Given the description of an element on the screen output the (x, y) to click on. 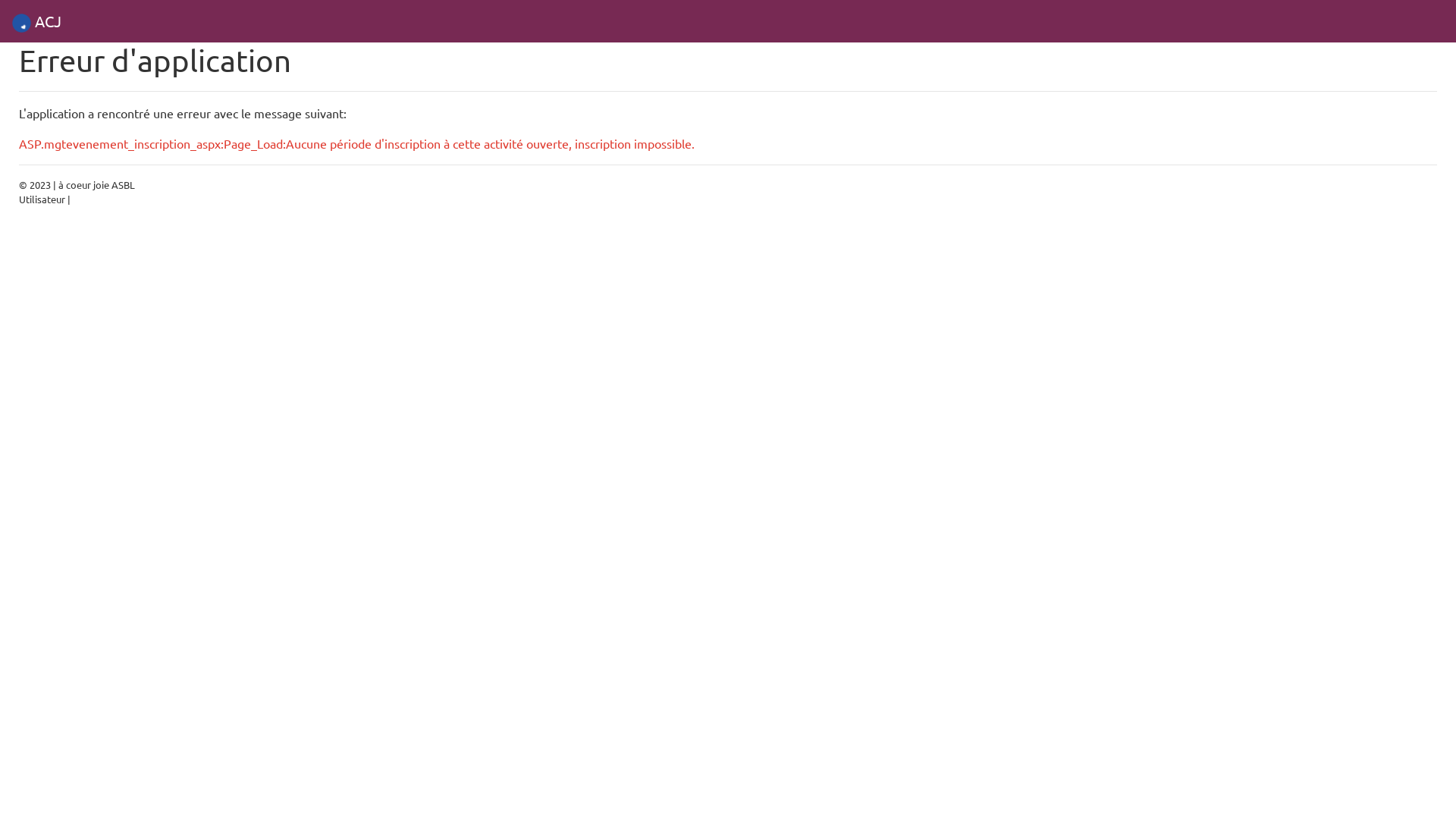
 ACJ Element type: text (36, 21)
